Given the description of an element on the screen output the (x, y) to click on. 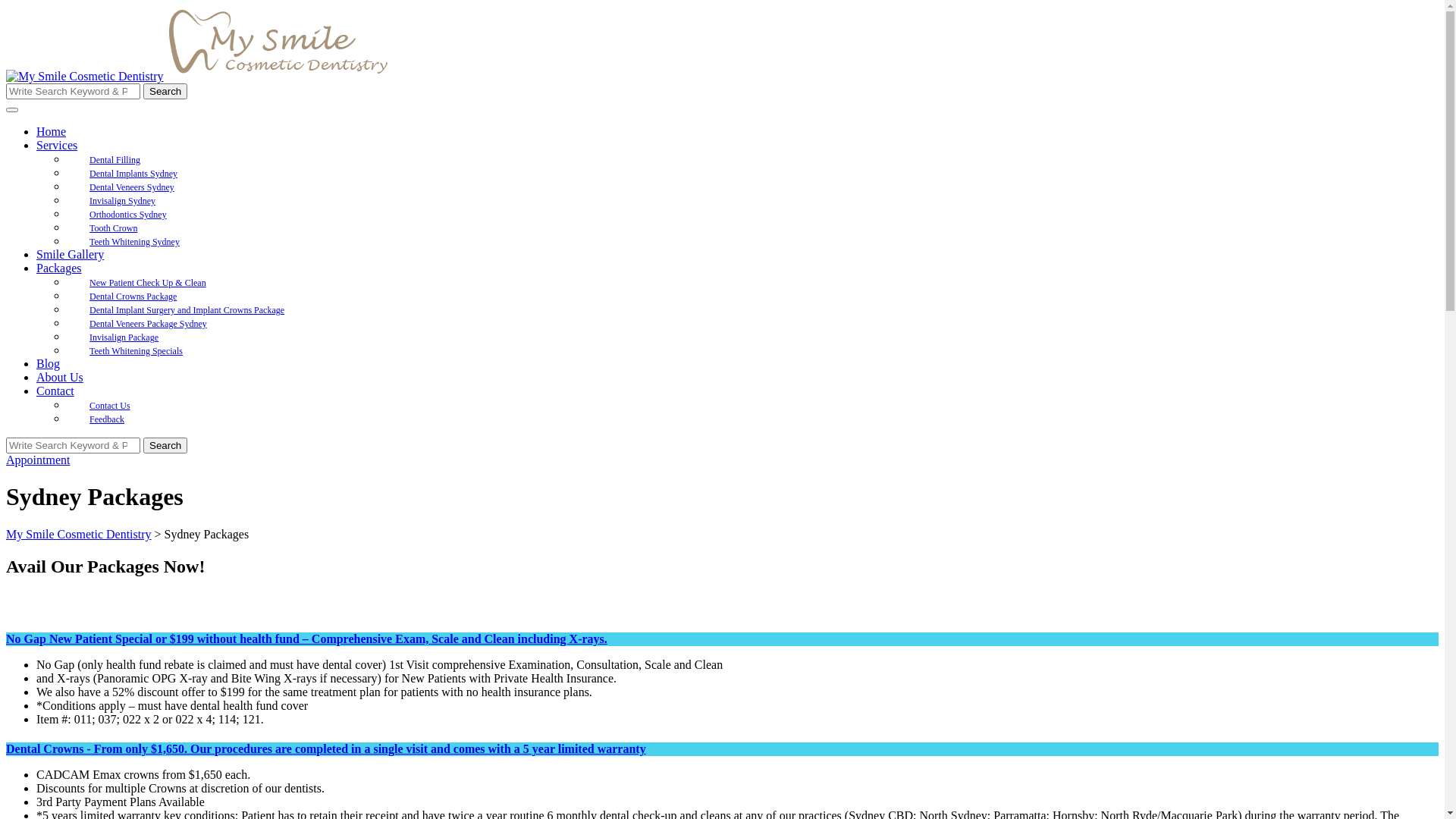
Dental Implant Surgery and Implant Crowns Package Element type: text (186, 310)
Search Element type: text (165, 445)
Contact Element type: text (55, 390)
My Smile Cosmetic Dentistry Element type: hover (84, 76)
Search Element type: text (165, 91)
Orthodontics Sydney Element type: text (127, 214)
Skip to content Element type: text (5, 5)
My Smile Cosmetic Dentistry Element type: text (78, 533)
Tooth Crown Element type: text (113, 228)
Dental Veneers Sydney Element type: text (131, 187)
Smile Gallery Element type: text (69, 253)
Dental Veneers Package Sydney Element type: text (147, 323)
New Patient Check Up & Clean Element type: text (147, 282)
My Smile Cosmetic Dentistry Element type: hover (277, 43)
Blog Element type: text (47, 363)
Contact Us Element type: text (109, 405)
About Us Element type: text (59, 376)
Dental Crowns Package Element type: text (132, 296)
Packages Element type: text (58, 267)
Invisalign Package Element type: text (123, 337)
Feedback Element type: text (106, 419)
Services Element type: text (56, 144)
Dental Filling Element type: text (114, 159)
Home Element type: text (50, 131)
Teeth Whitening Specials Element type: text (135, 351)
Appointment Element type: text (37, 459)
Dental Implants Sydney Element type: text (133, 173)
Invisalign Sydney Element type: text (122, 200)
Teeth Whitening Sydney Element type: text (134, 241)
